Given the description of an element on the screen output the (x, y) to click on. 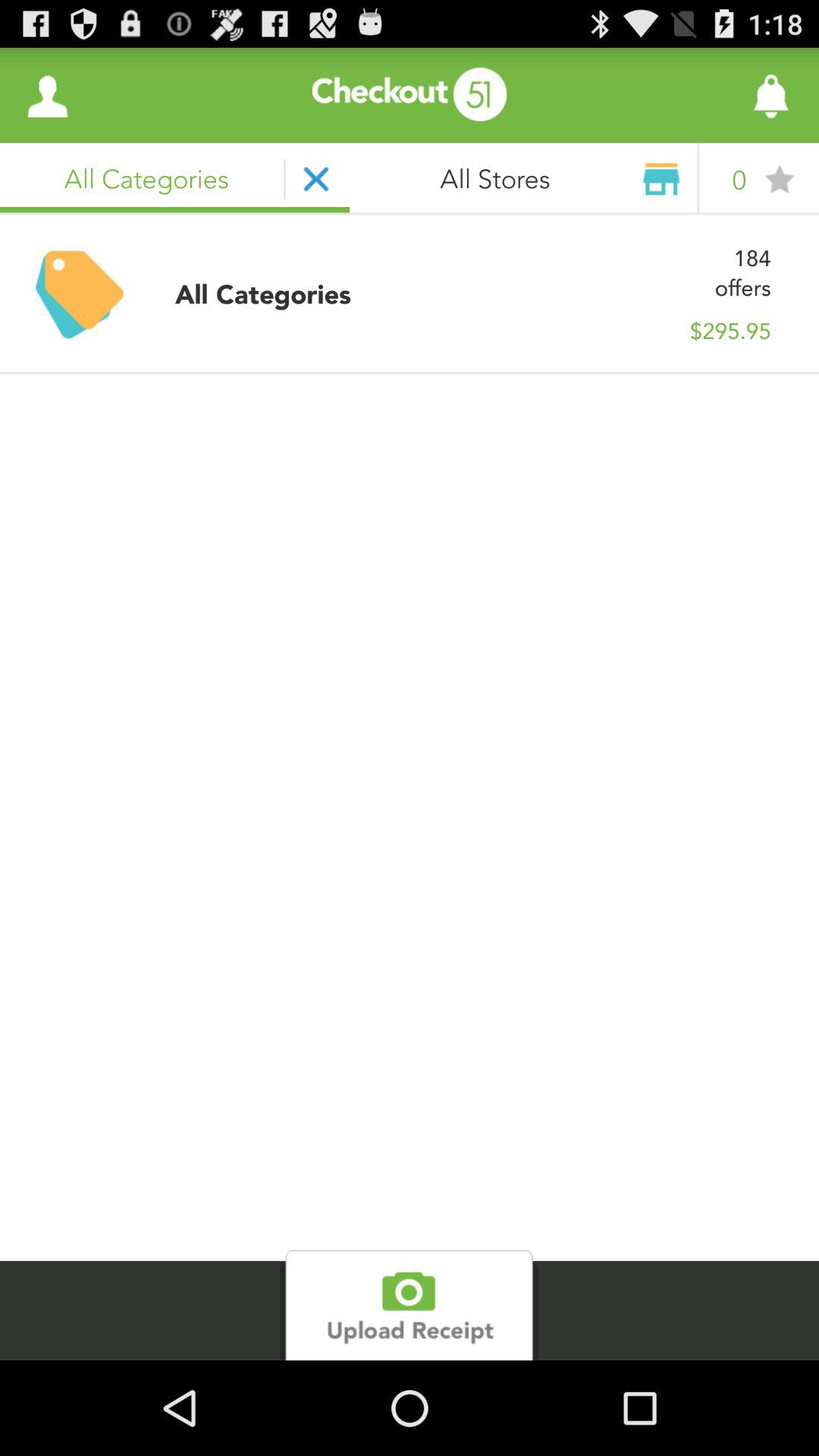
upload receipt (408, 1305)
